Given the description of an element on the screen output the (x, y) to click on. 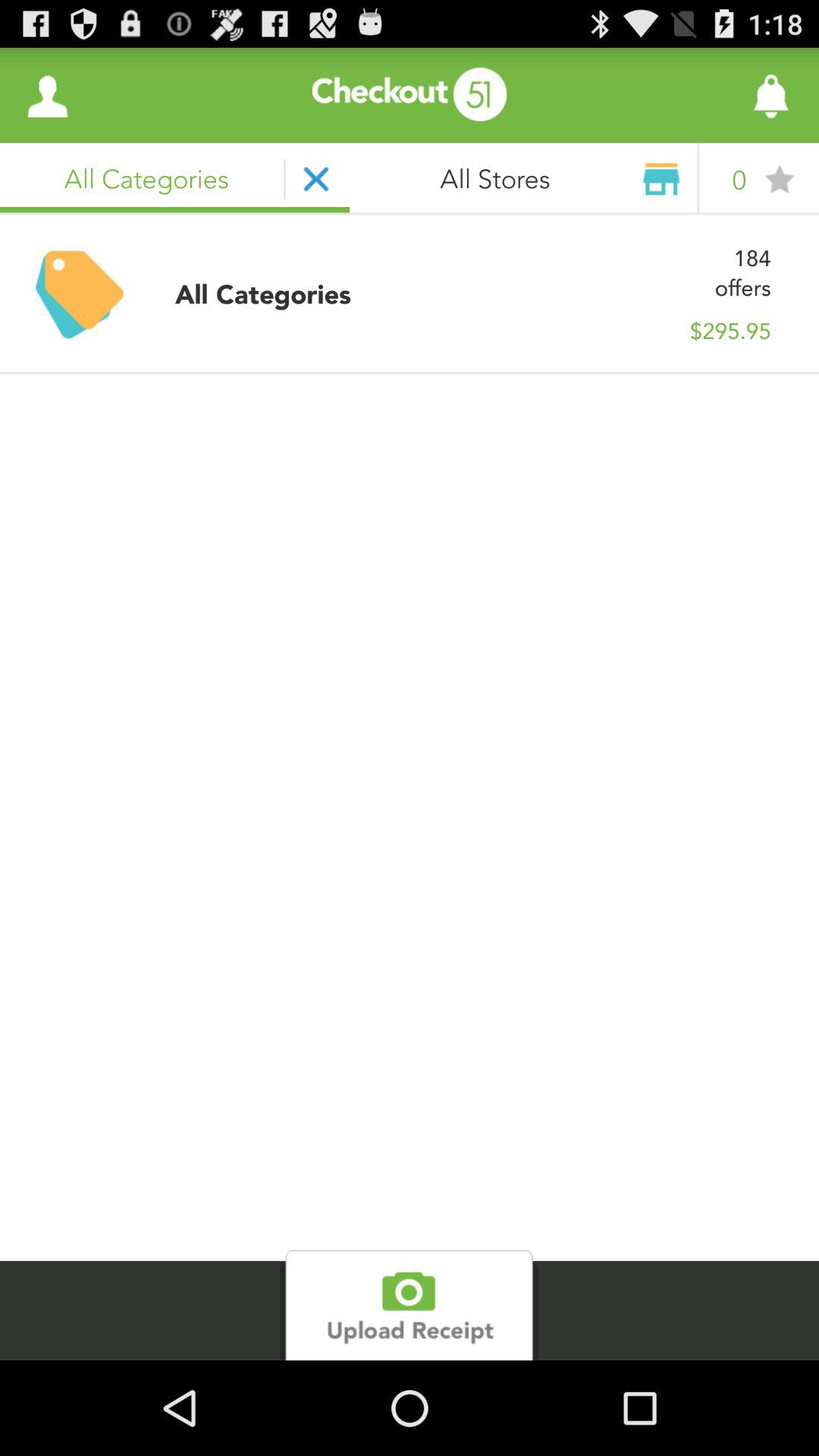
upload receipt (408, 1305)
